Given the description of an element on the screen output the (x, y) to click on. 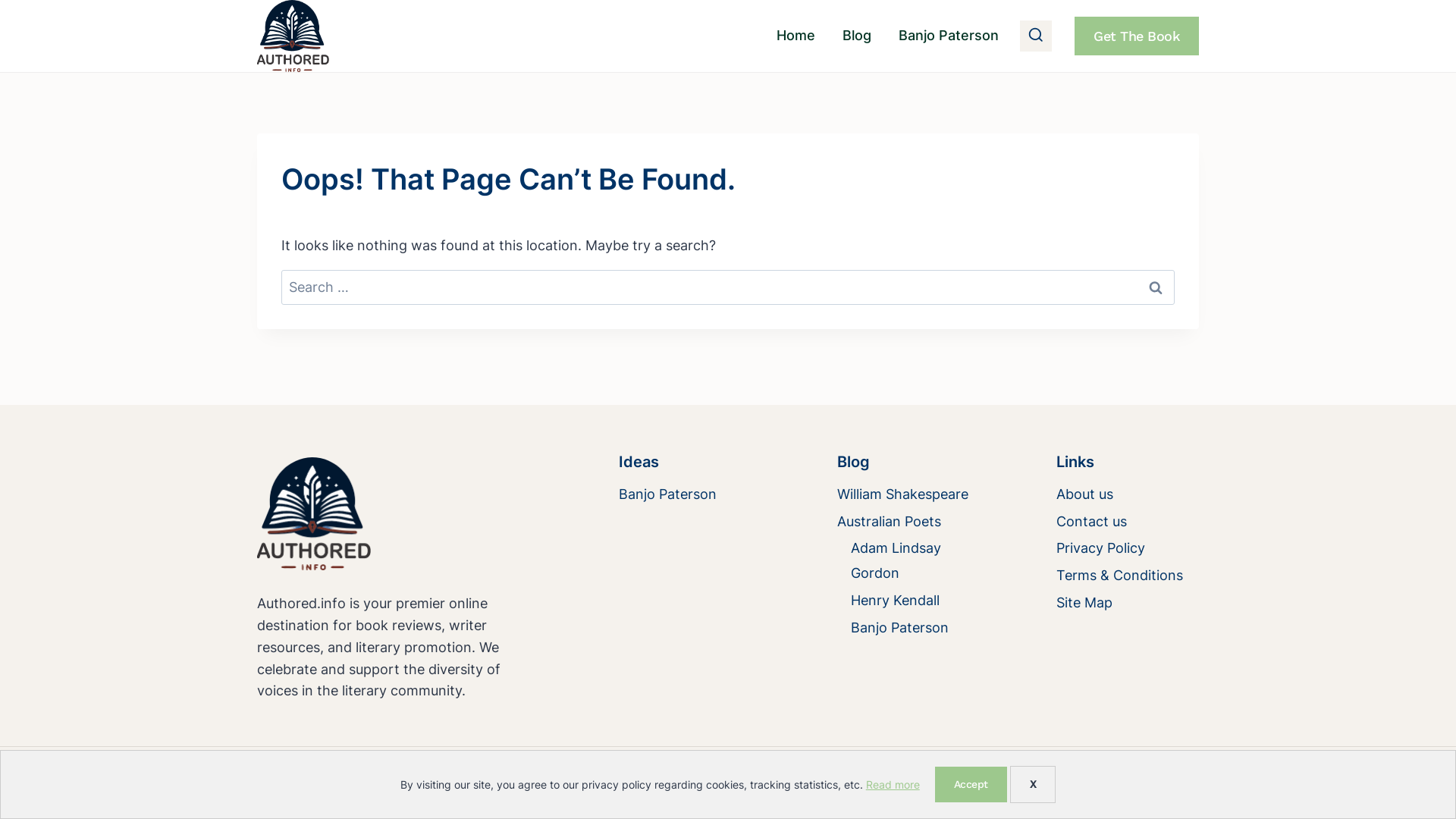
Banjo Paterson Element type: text (948, 35)
Banjo Paterson Element type: text (914, 627)
Blog Element type: text (856, 35)
Search Element type: text (1155, 286)
Contact us Element type: text (1127, 521)
Terms & Conditions Element type: text (1127, 575)
Banjo Paterson Element type: text (689, 494)
Read more Element type: text (892, 784)
About us Element type: text (1127, 494)
William Shakespeare Element type: text (908, 494)
Site Map Element type: text (1127, 603)
Privacy Policy Element type: text (1127, 548)
Accept Element type: text (971, 784)
Henry Kendall Element type: text (914, 600)
Get The Book Element type: text (1136, 36)
Adam Lindsay Gordon Element type: text (914, 560)
X Element type: text (1033, 784)
Home Element type: text (795, 35)
Australian Poets Element type: text (908, 521)
